Given the description of an element on the screen output the (x, y) to click on. 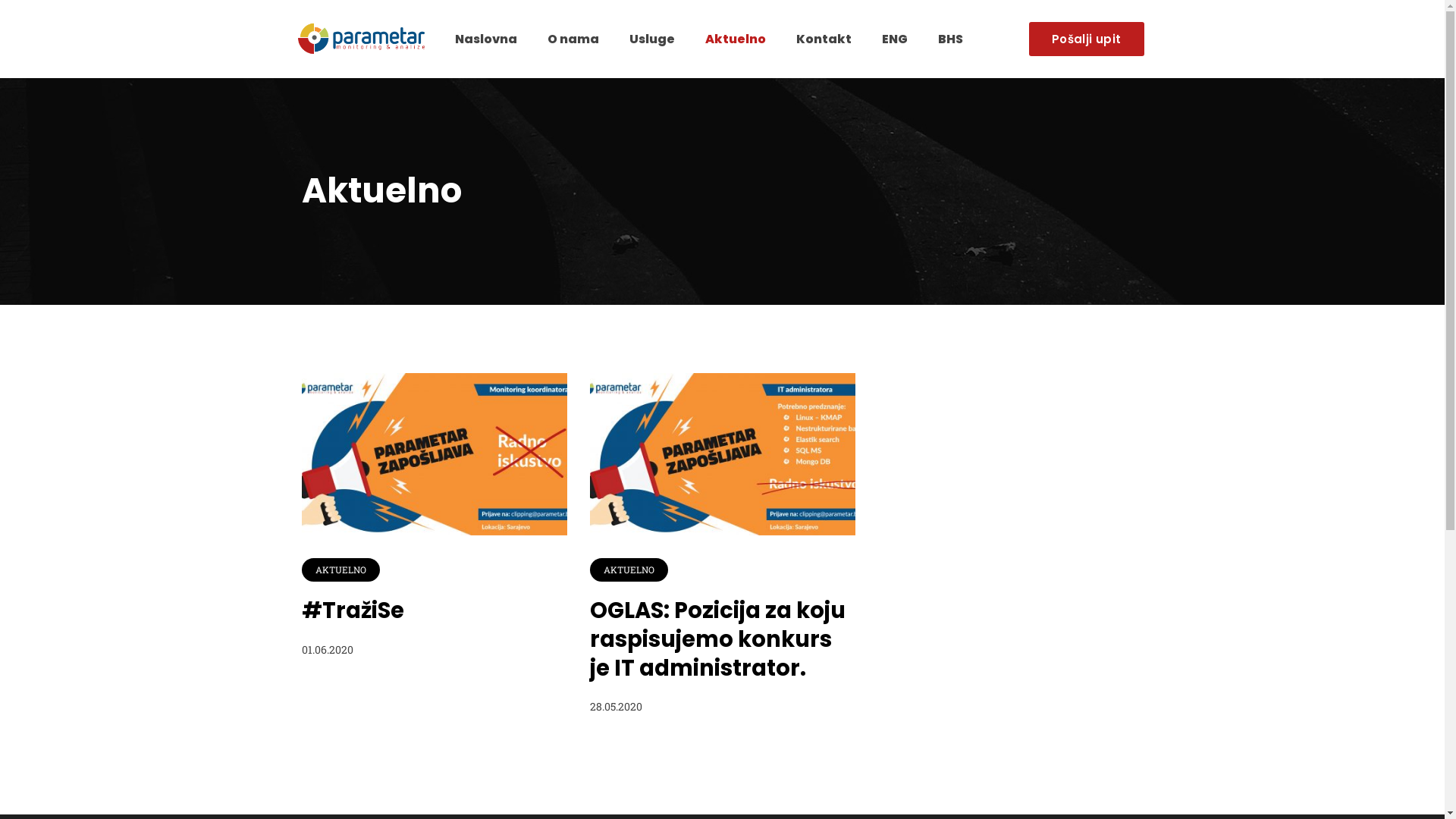
ENG Element type: text (894, 38)
BHS Element type: text (950, 38)
Usluge Element type: text (652, 38)
Aktuelno Element type: text (735, 38)
Kontakt Element type: text (823, 38)
AKTUELNO Element type: text (628, 569)
 oglas 2  Element type: hover (434, 454)
 Parametar-Oglas  Element type: hover (722, 454)
Naslovna Element type: text (485, 38)
AKTUELNO Element type: text (340, 569)
O nama Element type: text (573, 38)
